Given the description of an element on the screen output the (x, y) to click on. 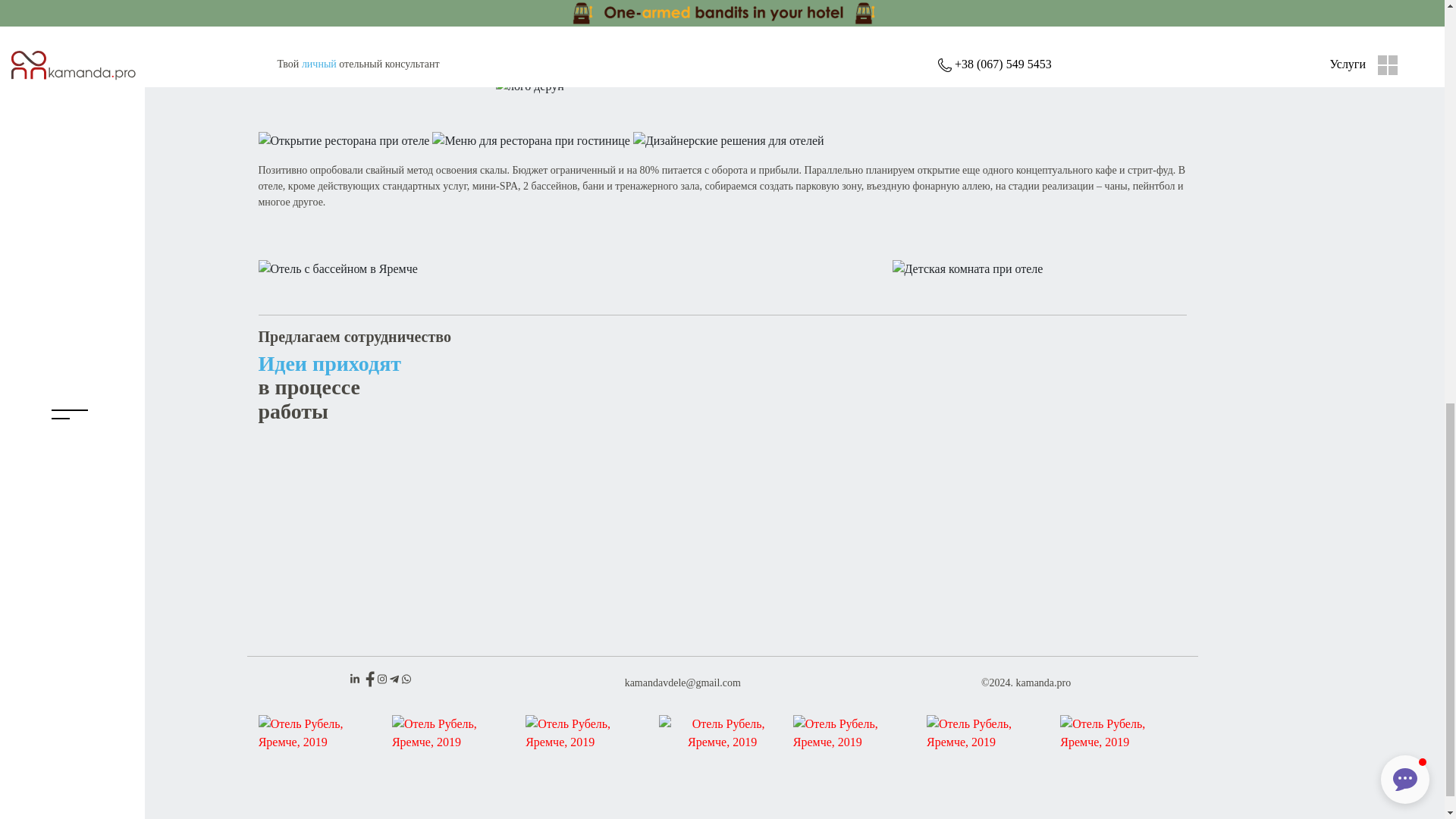
Telegram (395, 676)
